Given the description of an element on the screen output the (x, y) to click on. 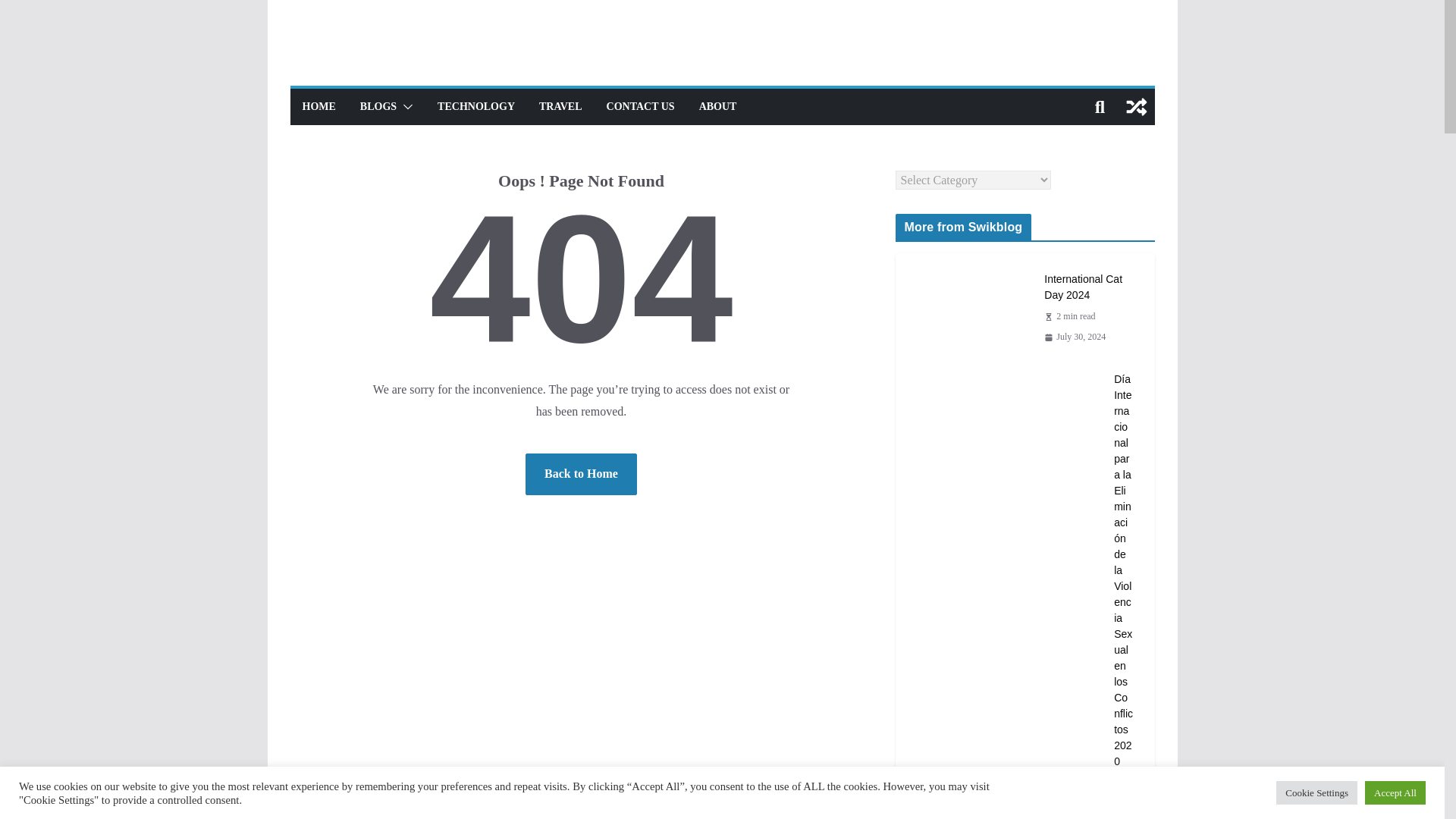
View a random post (1136, 106)
International Cat Day 2024 (1087, 287)
International Cat Day 2024 (1087, 287)
HOME (317, 106)
July 30, 2024 (1074, 336)
International Cat Day 2024 (968, 307)
CONTACT US (641, 106)
8:22 am (1074, 336)
TRAVEL (560, 106)
BLOGS (377, 106)
